Given the description of an element on the screen output the (x, y) to click on. 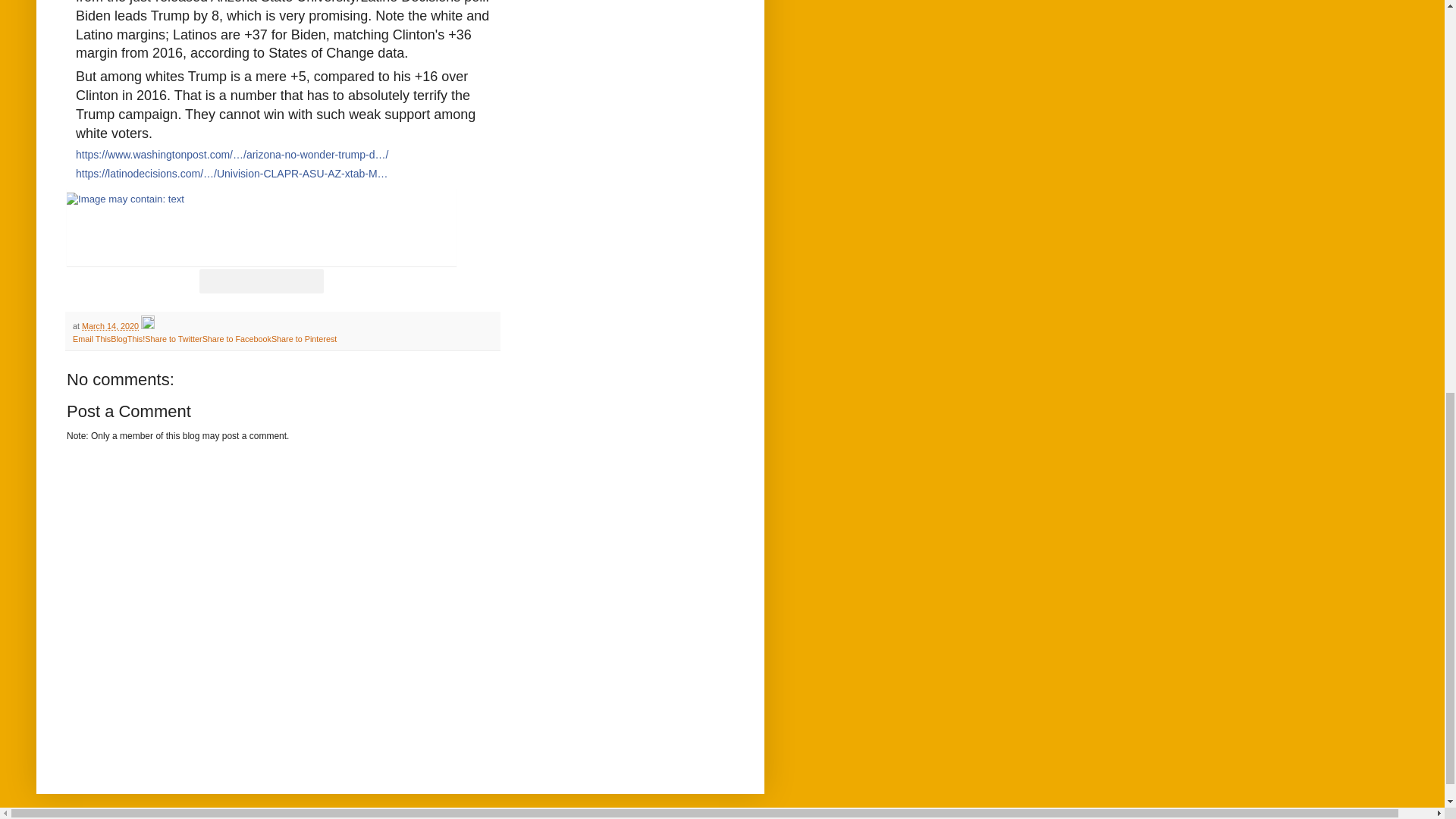
March 14, 2020 (109, 325)
Share to Facebook (236, 338)
Edit Post (147, 325)
BlogThis! (127, 338)
Share to Pinterest (303, 338)
Share to Twitter (173, 338)
BlogThis! (127, 338)
Email This (91, 338)
Share to Twitter (173, 338)
Share to Pinterest (303, 338)
